Given the description of an element on the screen output the (x, y) to click on. 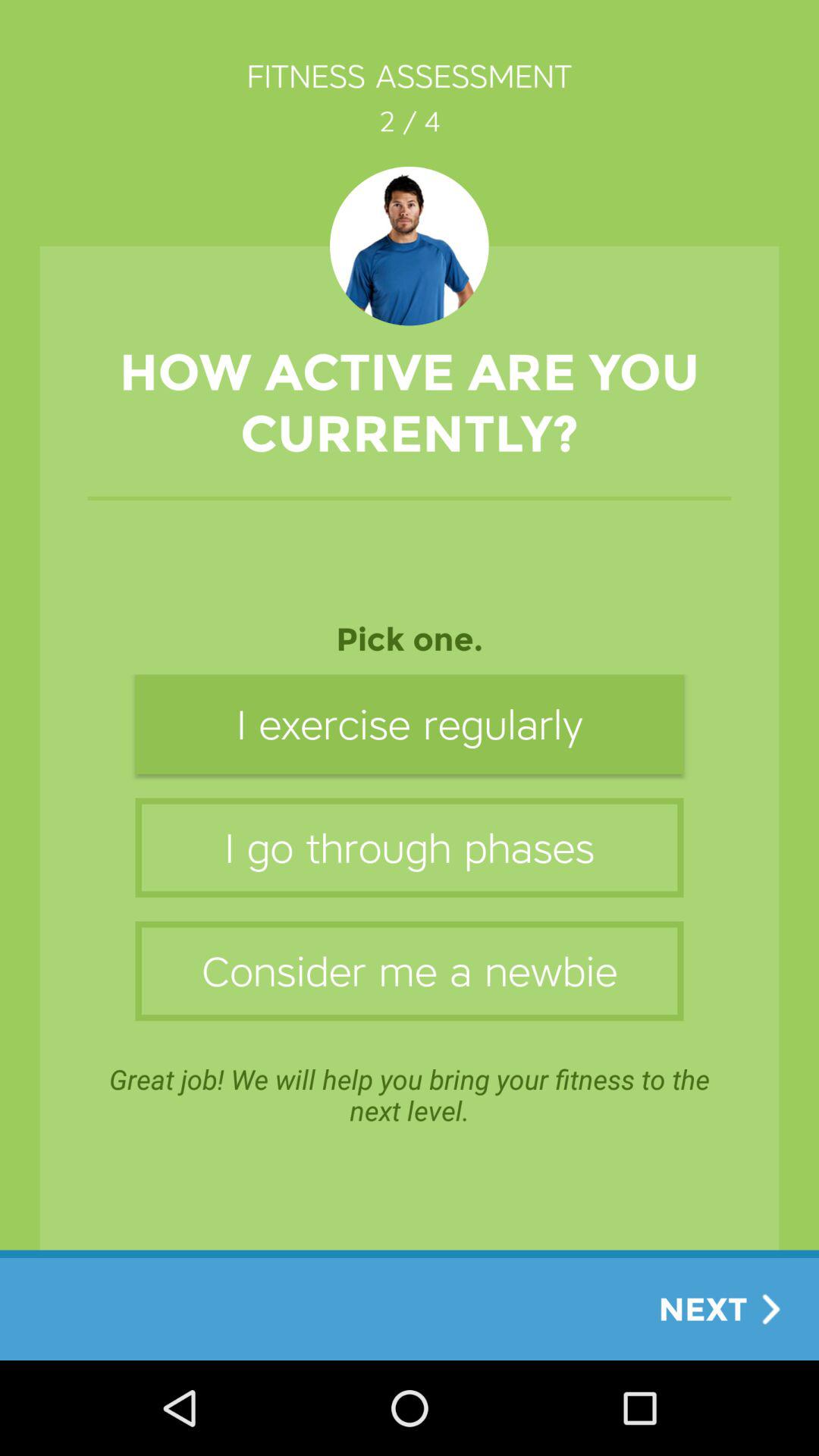
choose icon below the i exercise regularly (409, 847)
